Given the description of an element on the screen output the (x, y) to click on. 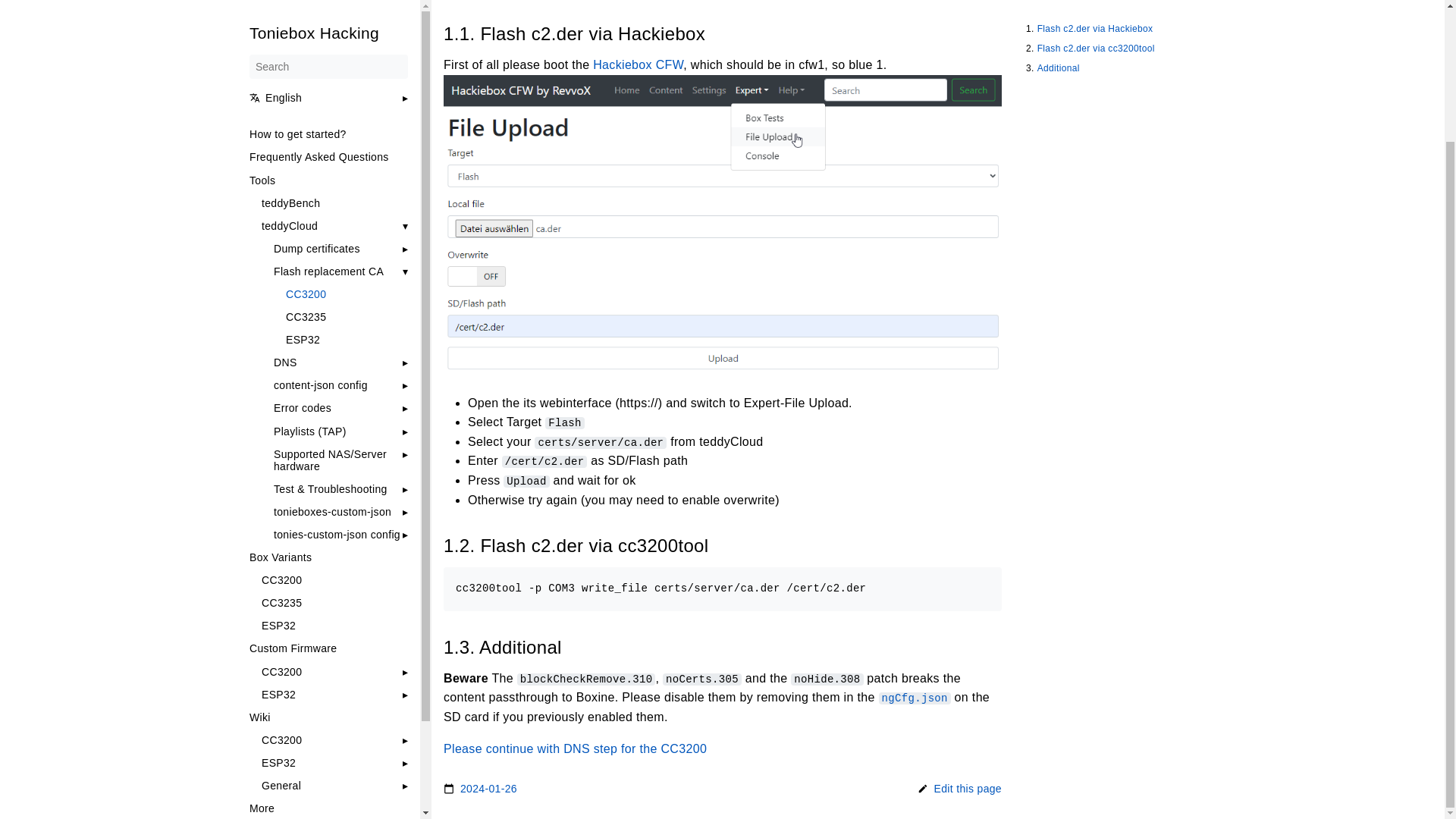
teddyBench (333, 42)
Frequently Asked Questions (327, 1)
Error codes (301, 247)
CC3200 (346, 133)
CC3235 (333, 442)
ESP32 (333, 465)
content-json config (319, 224)
CC3200 (333, 419)
Dump certificates (316, 88)
Flash replacement CA (327, 111)
Tools (327, 20)
ESP32 (346, 179)
CC3235 (346, 156)
Custom Firmware (327, 488)
ESP32 (277, 534)
